Given the description of an element on the screen output the (x, y) to click on. 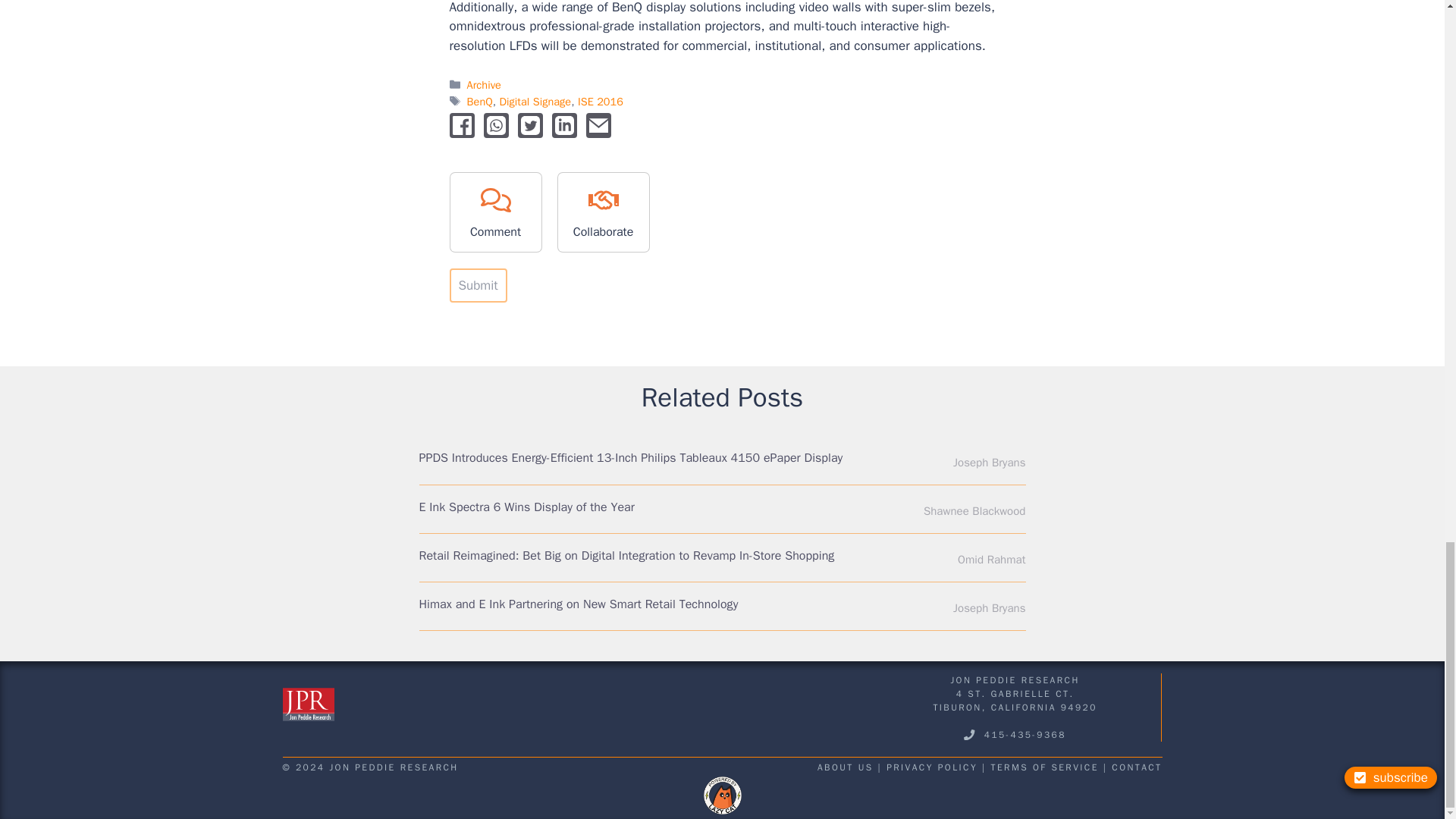
BenQ (480, 101)
Himax and E Ink Partnering on New Smart Retail Technology (578, 604)
CONTACT (1136, 767)
TERMS OF SERVICE (1045, 767)
Archive (483, 84)
ISE 2016 (600, 101)
E Ink Spectra 6 Wins Display of the Year (526, 507)
Digital Signage (535, 101)
PRIVACY POLICY (931, 767)
Submit (477, 285)
Powered by Lazy Cat Media (722, 795)
